Given the description of an element on the screen output the (x, y) to click on. 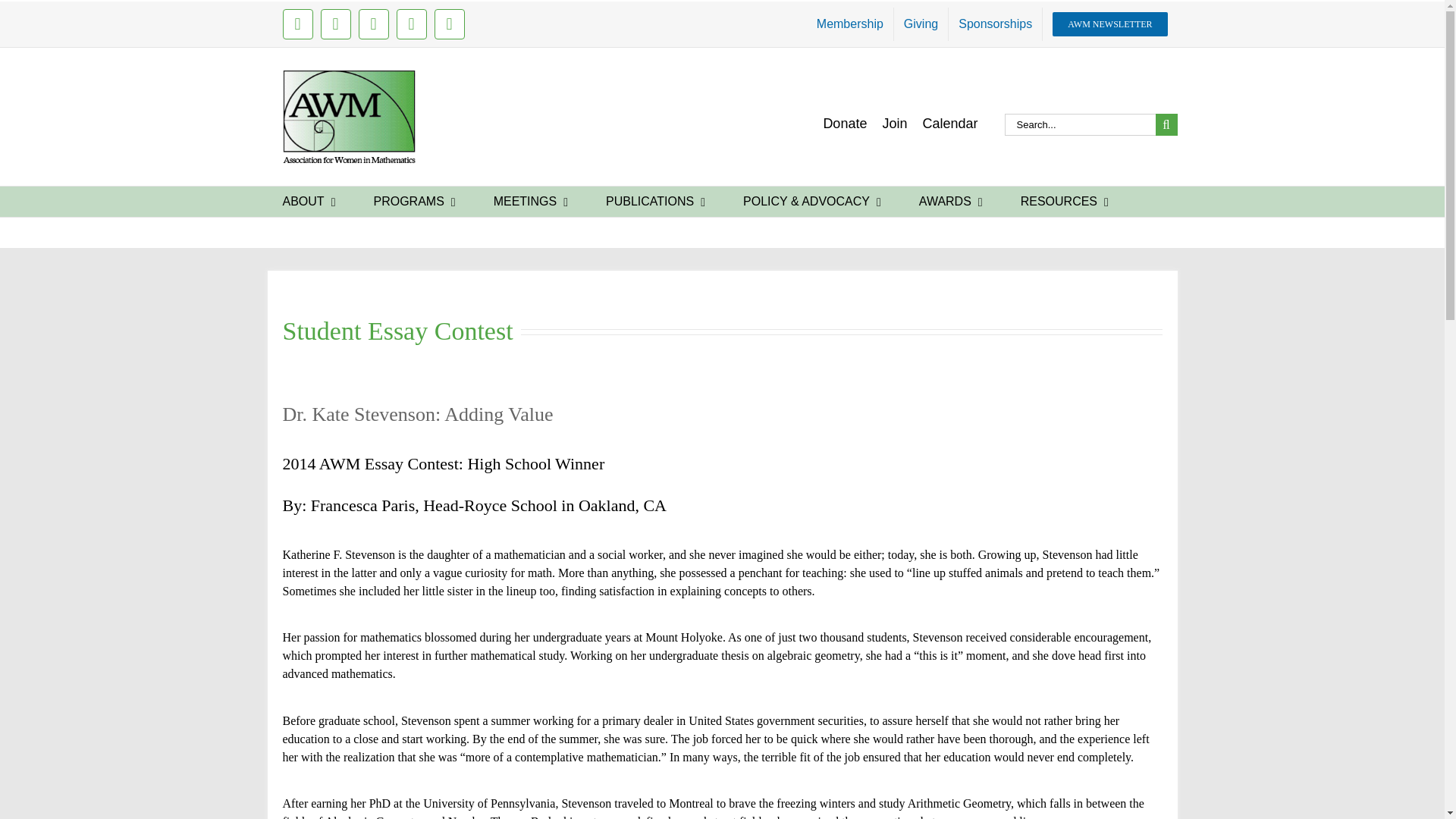
Donate (844, 123)
AWM NEWSLETTER (1109, 23)
Instagram (297, 24)
LinkedIn (335, 24)
MEETINGS (531, 201)
PROGRAMS (414, 201)
Facebook (373, 24)
Join (894, 123)
Calendar (948, 123)
Giving (920, 23)
YouTube (448, 24)
Membership (849, 23)
ABOUT (308, 201)
Sponsorships (995, 23)
